Given the description of an element on the screen output the (x, y) to click on. 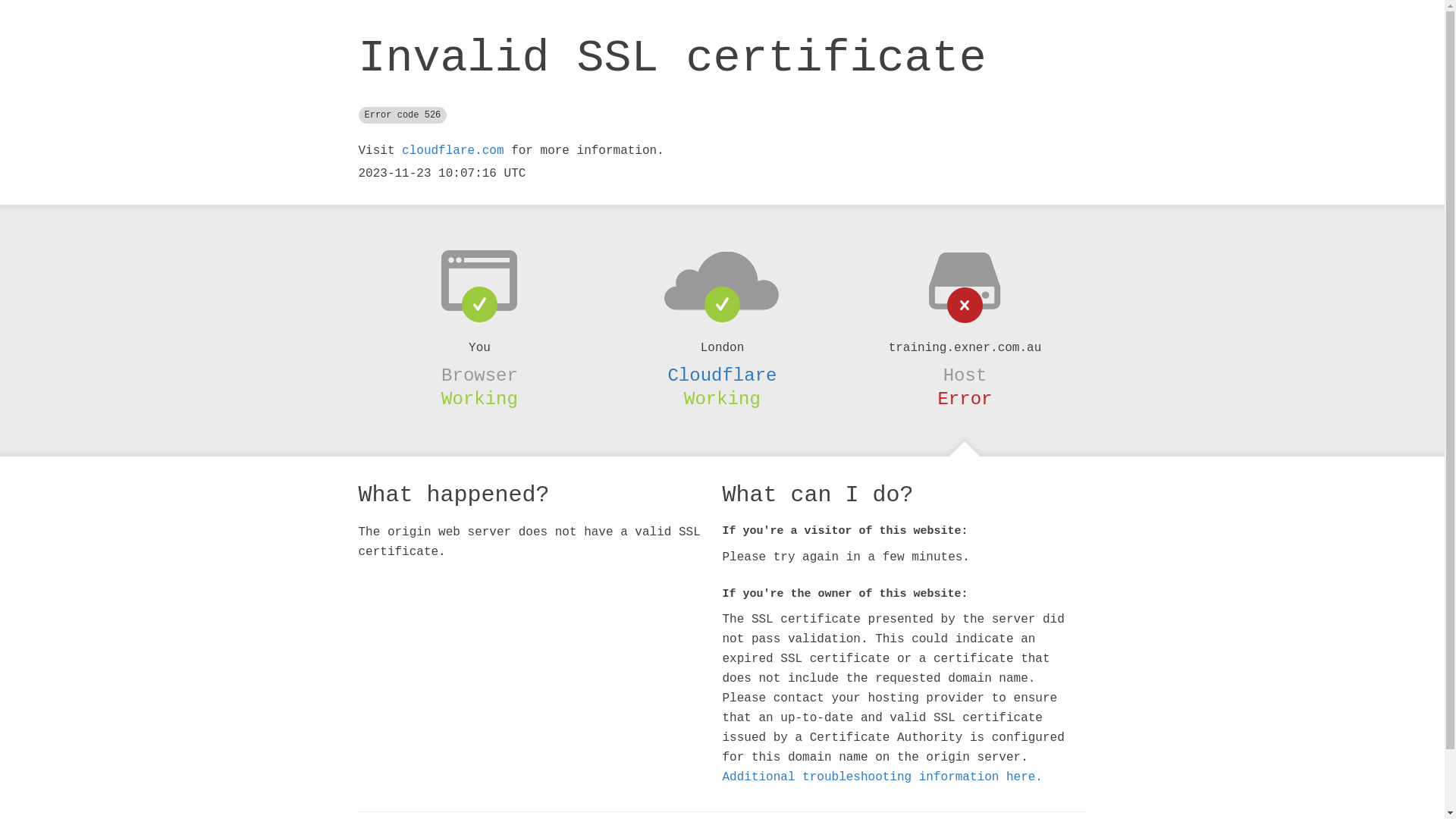
cloudflare.com Element type: text (452, 150)
Cloudflare Element type: text (721, 375)
Additional troubleshooting information here. Element type: text (881, 777)
